Given the description of an element on the screen output the (x, y) to click on. 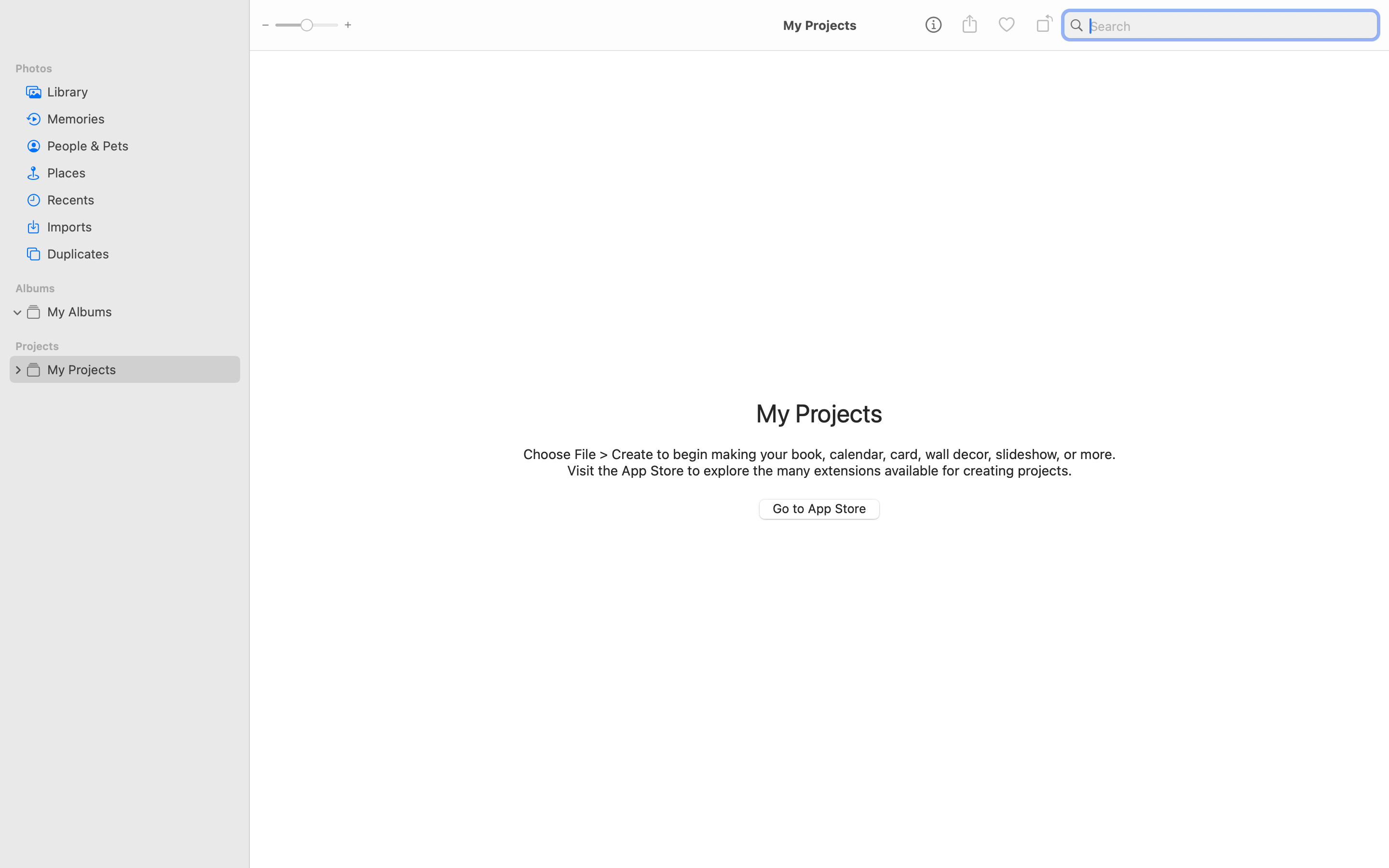
Imports Element type: AXStaticText (139, 226)
My Albums Element type: AXStaticText (139, 311)
